Given the description of an element on the screen output the (x, y) to click on. 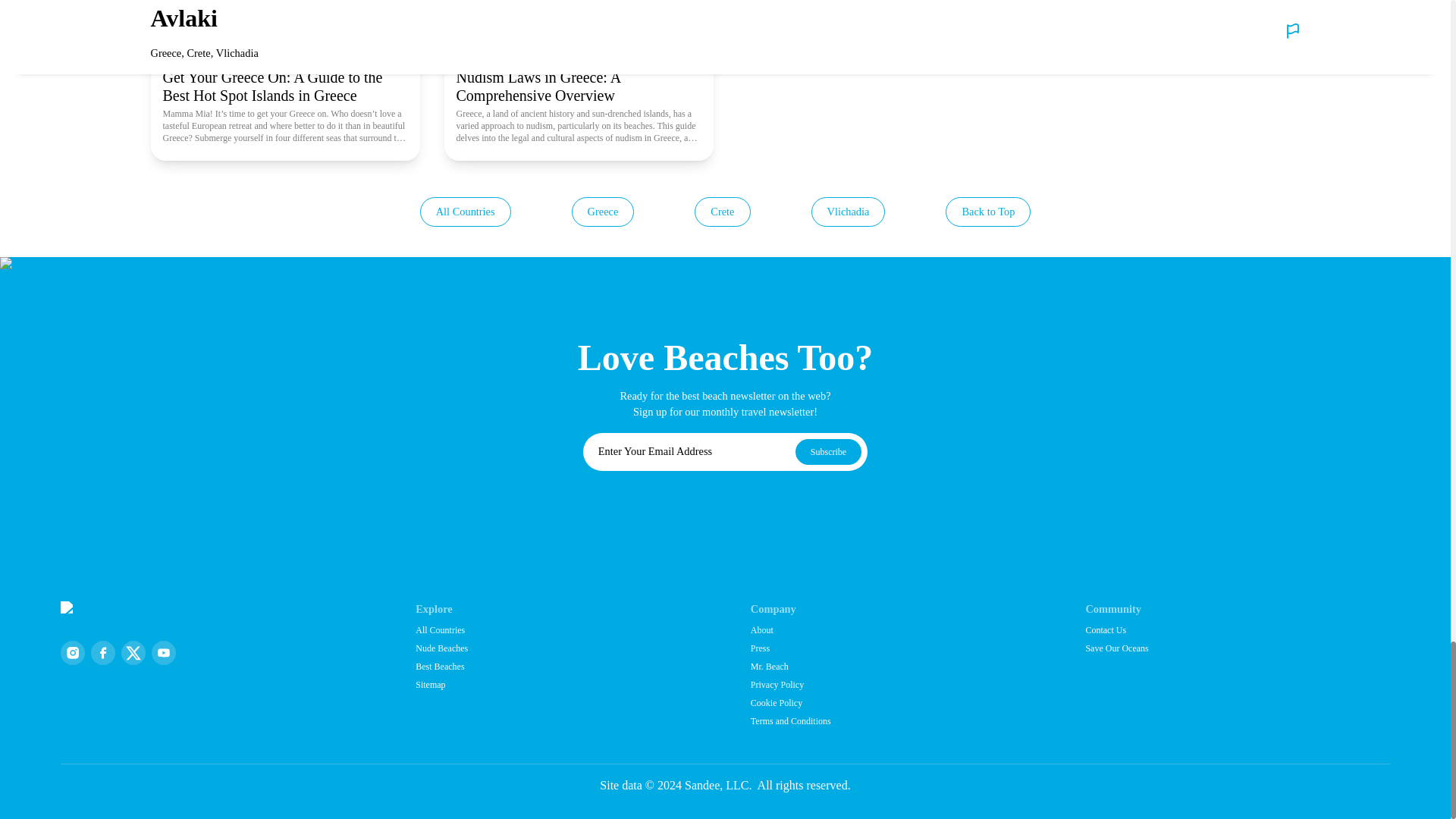
Greece (603, 211)
Invalid email address (687, 451)
All Countries (465, 211)
Crete (721, 211)
